Given the description of an element on the screen output the (x, y) to click on. 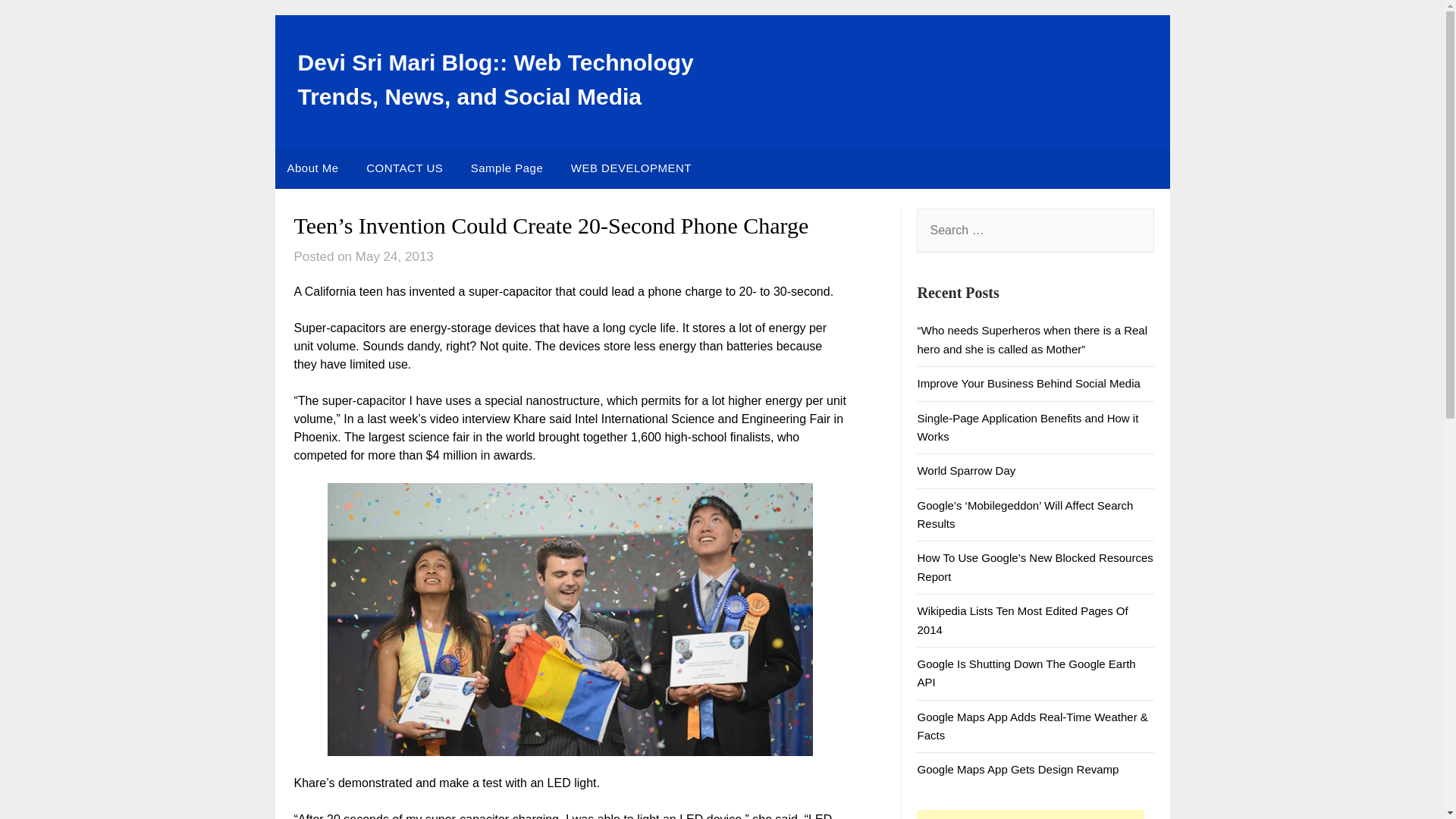
Advertisement (1030, 814)
Google Is Shutting Down The Google Earth API (1026, 672)
Sample Page (507, 168)
Search (38, 22)
WEB DEVELOPMENT (631, 168)
World Sparrow Day (965, 470)
Single-Page Application Benefits and How it Works (1027, 426)
CONTACT US (403, 168)
Wikipedia Lists Ten Most Edited Pages Of 2014 (1021, 619)
